Given the description of an element on the screen output the (x, y) to click on. 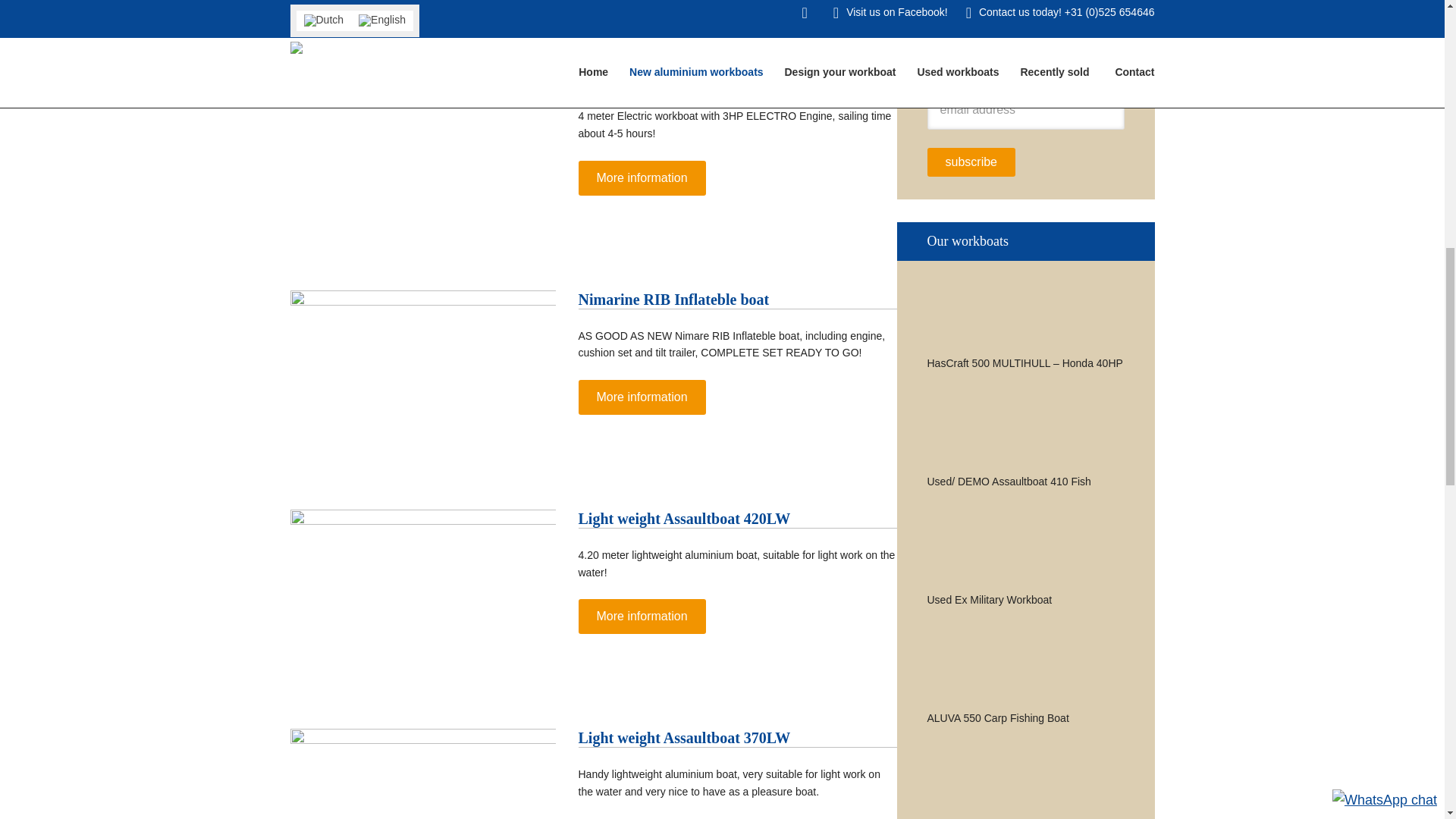
Nimarine RIB Inflateble boat (673, 299)
More information (641, 615)
Light weight Assaultboat 420LW (684, 518)
subscribe (970, 162)
More information (641, 177)
HasCraft 400 ELECTRIC Workboat (697, 79)
HasCraft 400 ELECTRIC Workboat (697, 79)
More information (641, 177)
Nimarine RIB Inflateble boat (673, 299)
More information (641, 397)
